Given the description of an element on the screen output the (x, y) to click on. 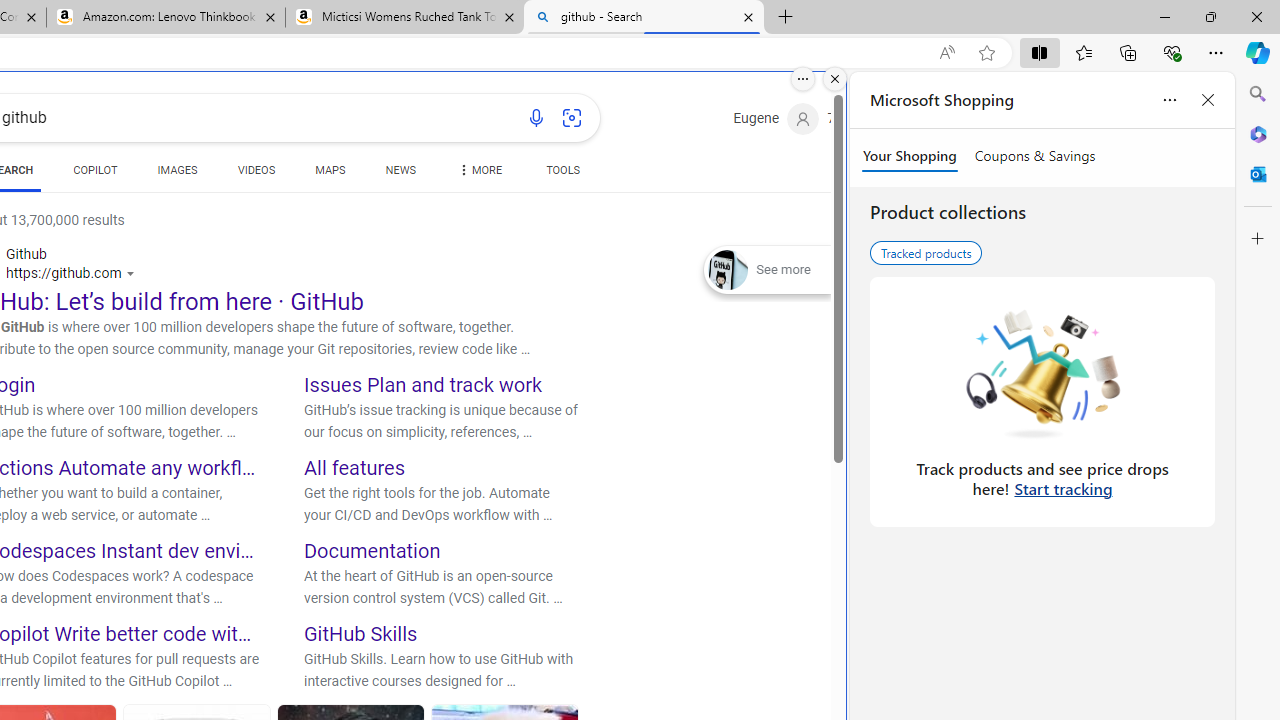
MORE (478, 173)
Expand See more (767, 269)
All features (354, 467)
Expand (727, 269)
NEWS (400, 170)
